Given the description of an element on the screen output the (x, y) to click on. 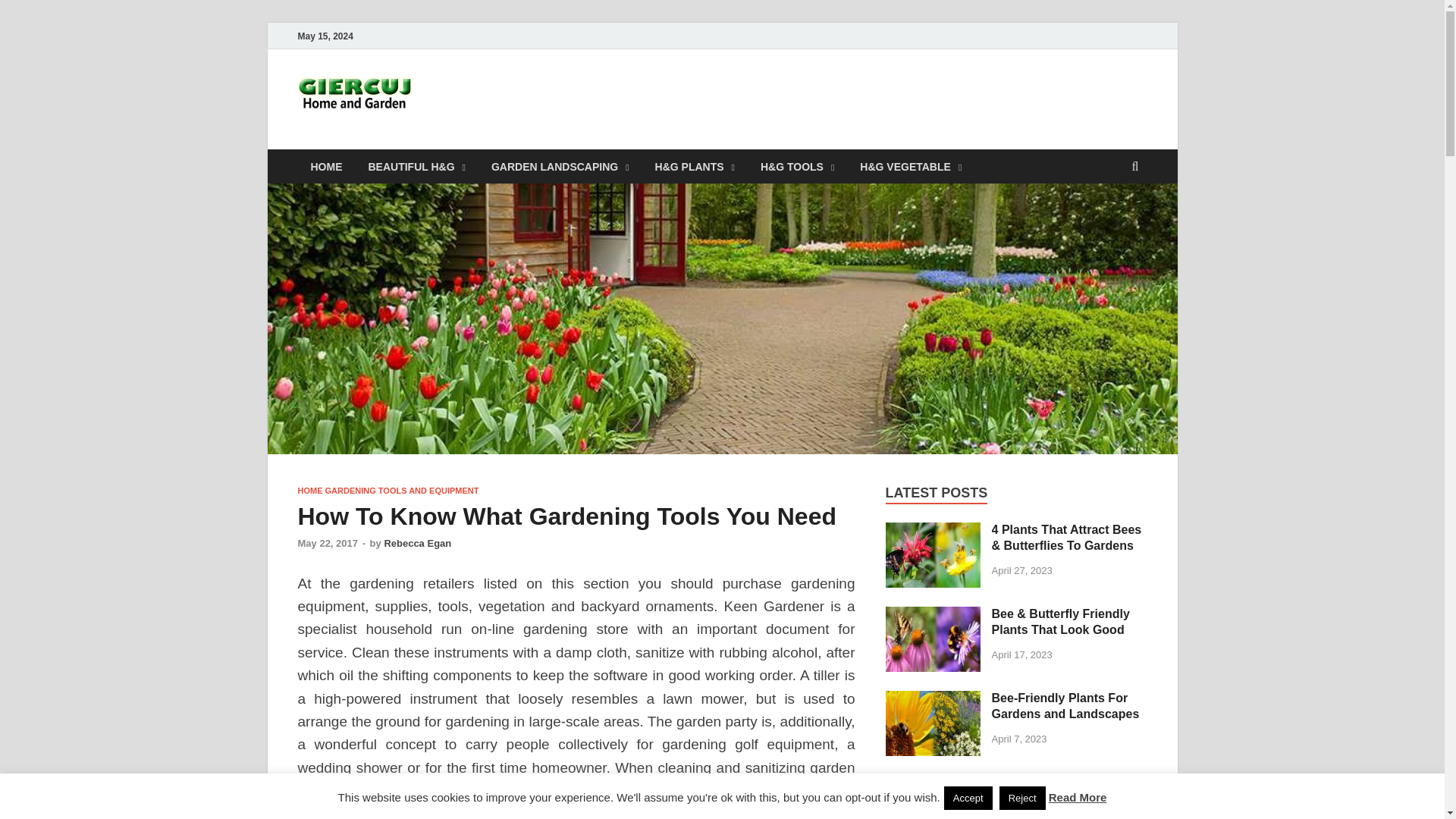
How To Care For Your Indoor Plants During Winter (932, 783)
HOME (326, 166)
GARDEN LANDSCAPING (560, 166)
Bee-Friendly Plants For Gardens and Landscapes (932, 698)
Giercuj (469, 100)
